Given the description of an element on the screen output the (x, y) to click on. 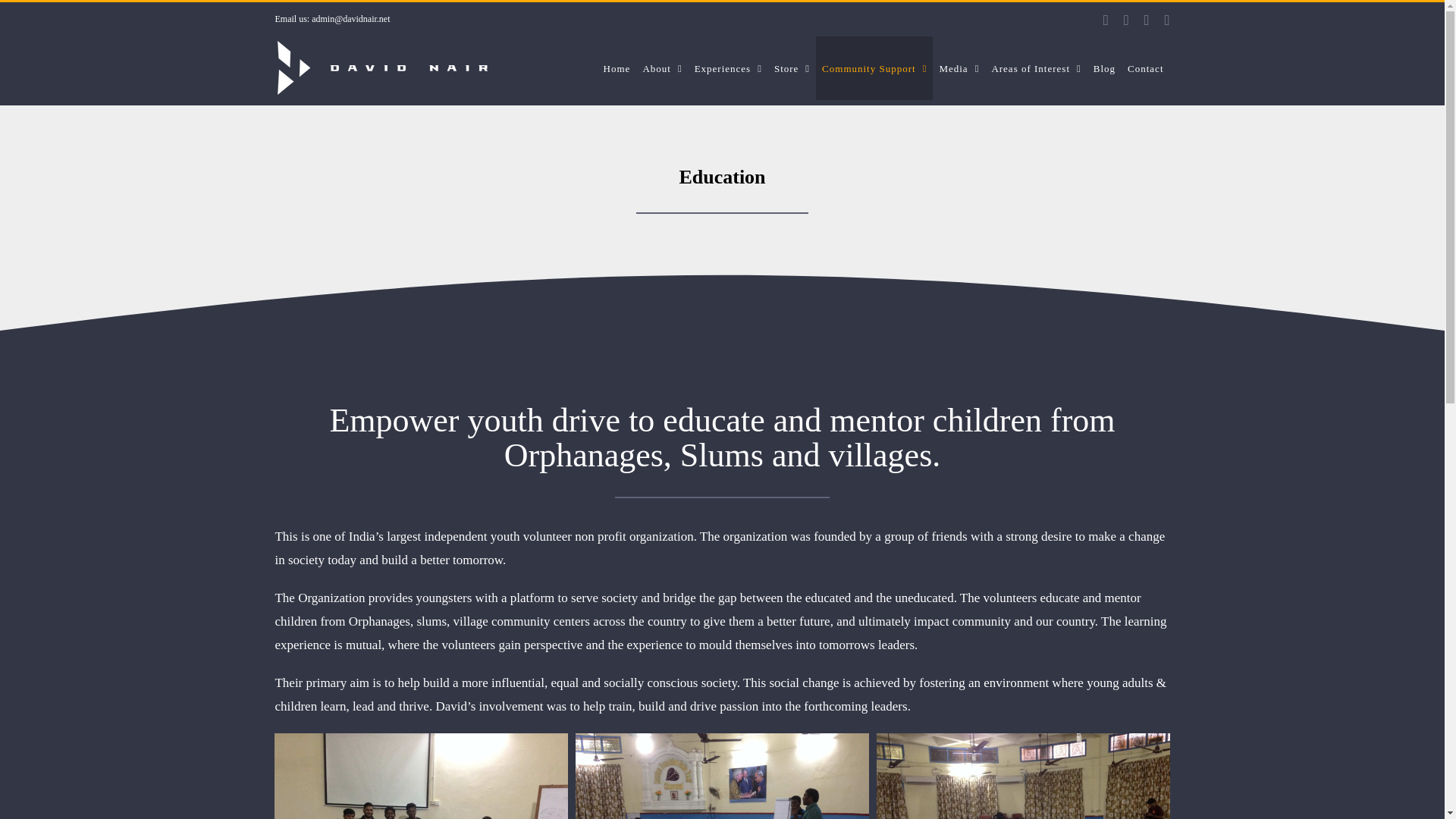
Experiences (728, 67)
Community Support (874, 67)
